Given the description of an element on the screen output the (x, y) to click on. 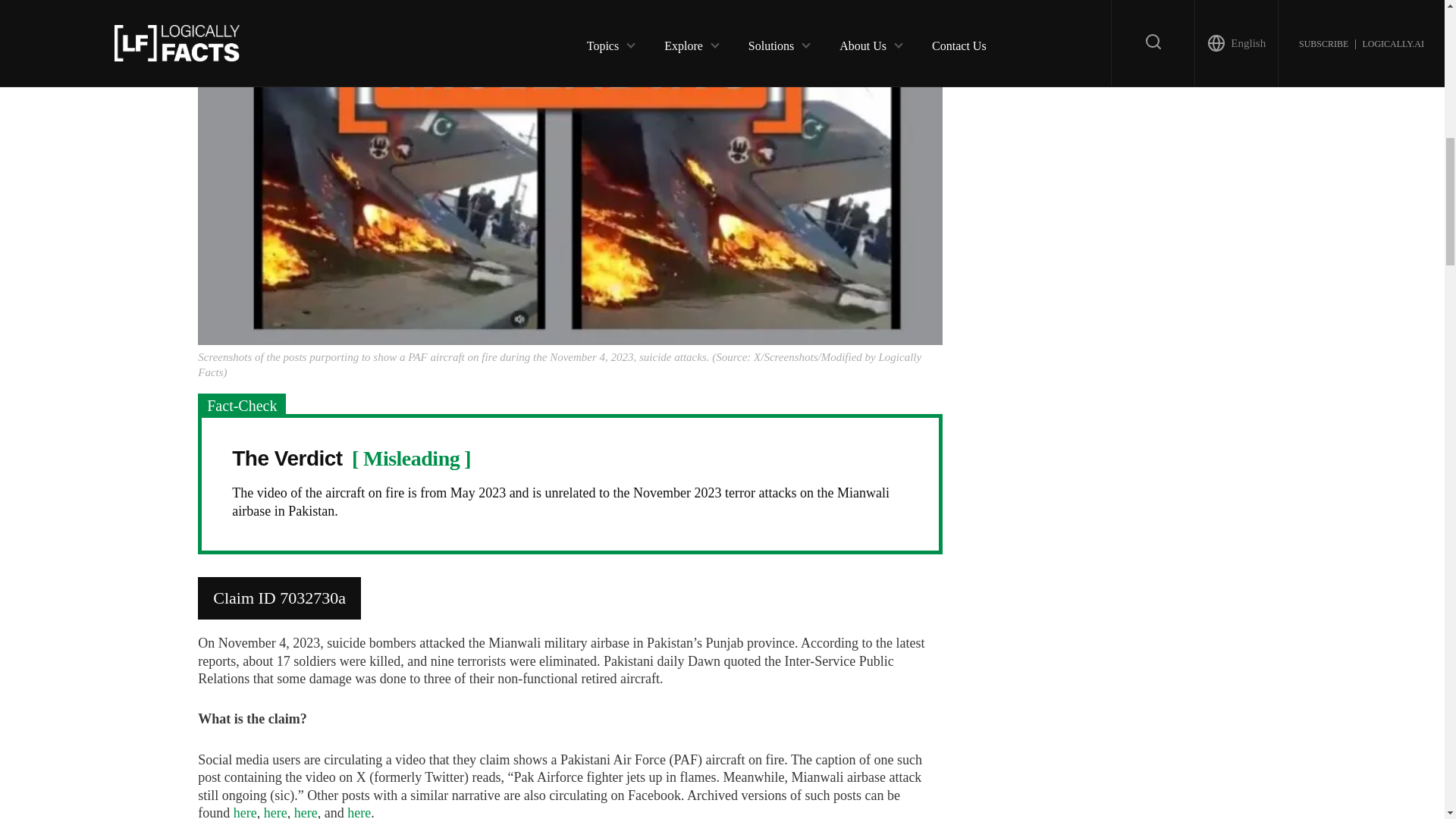
here (244, 812)
